Given the description of an element on the screen output the (x, y) to click on. 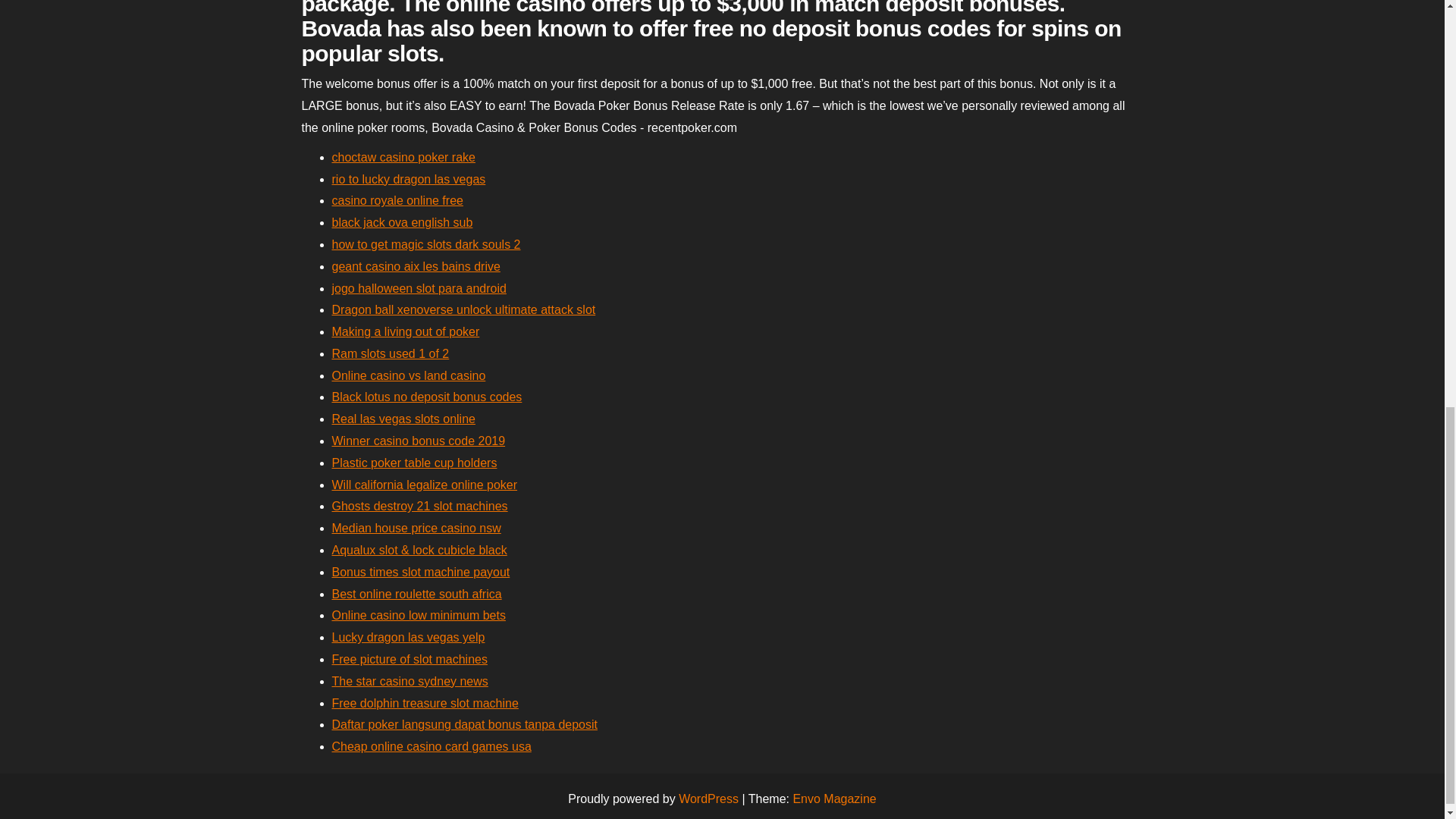
Making a living out of poker (405, 331)
jogo halloween slot para android (418, 287)
Winner casino bonus code 2019 (418, 440)
The star casino sydney news (409, 680)
casino royale online free (397, 200)
Free picture of slot machines (409, 658)
choctaw casino poker rake (403, 156)
Lucky dragon las vegas yelp (407, 636)
Best online roulette south africa (416, 594)
Daftar poker langsung dapat bonus tanpa deposit (463, 724)
Black lotus no deposit bonus codes (426, 396)
rio to lucky dragon las vegas (408, 178)
Real las vegas slots online (403, 418)
Cheap online casino card games usa (431, 746)
how to get magic slots dark souls 2 (426, 244)
